Given the description of an element on the screen output the (x, y) to click on. 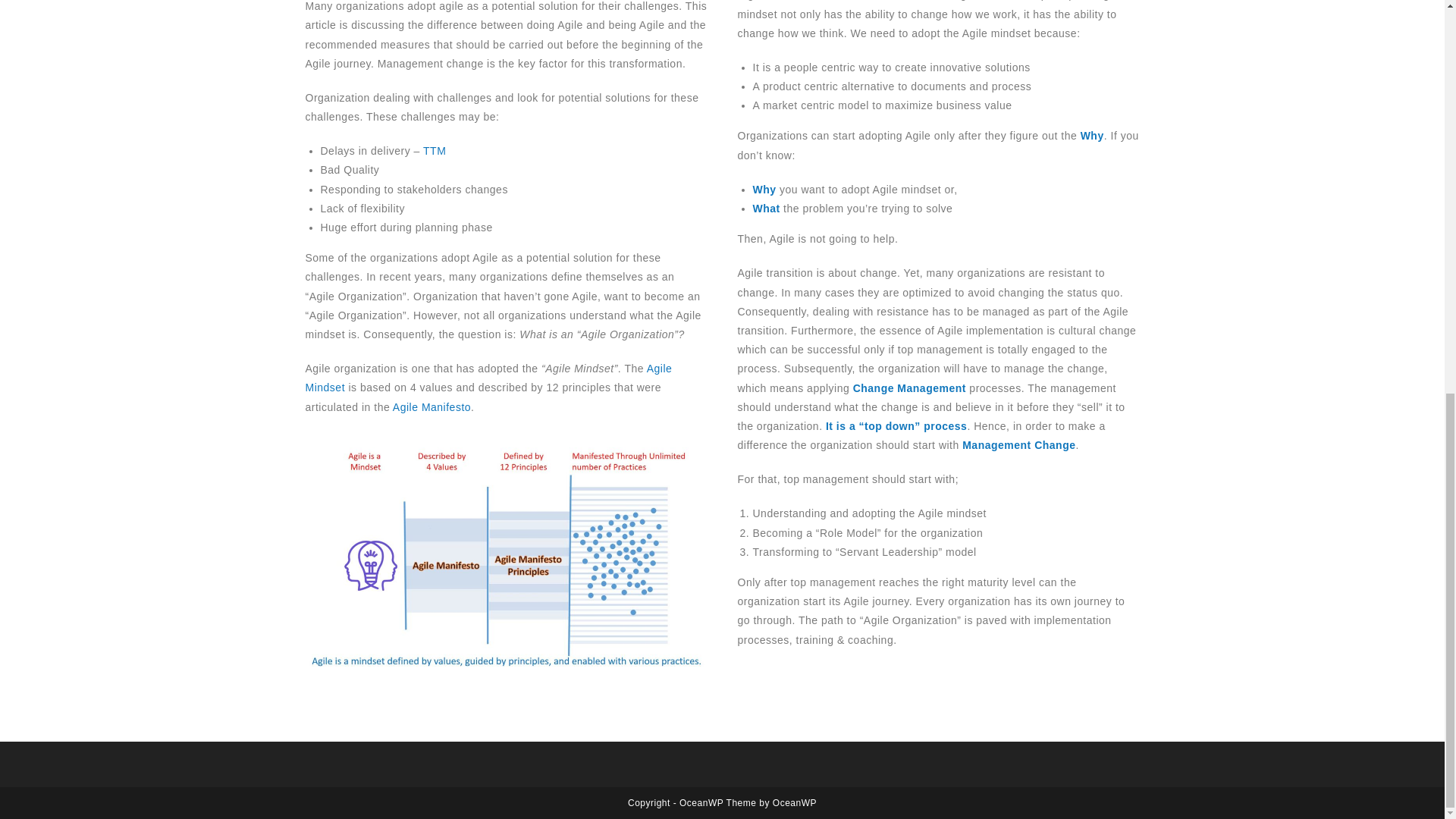
Agile Manifesto (431, 407)
